Given the description of an element on the screen output the (x, y) to click on. 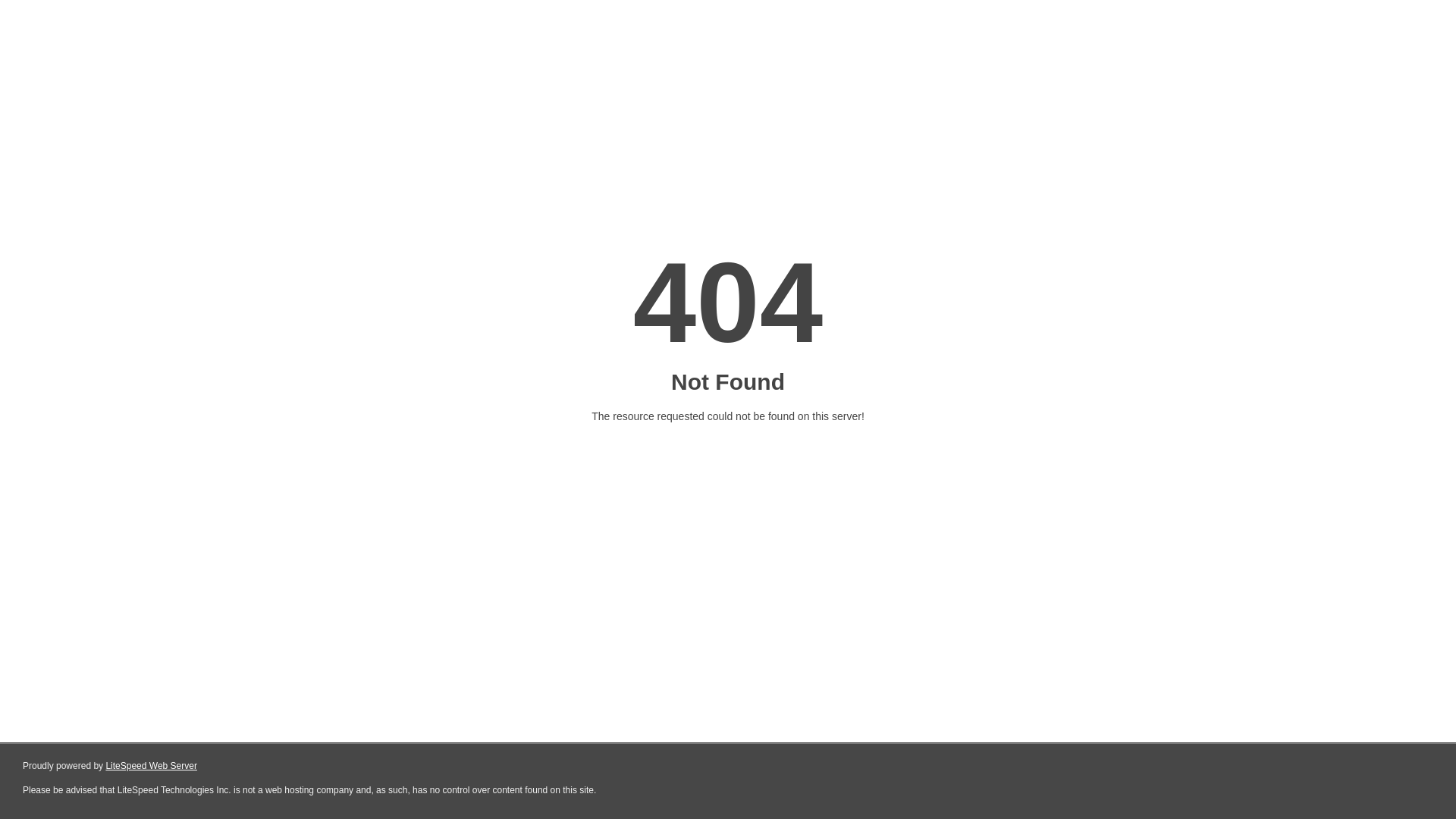
LiteSpeed Web Server Element type: text (151, 765)
